Given the description of an element on the screen output the (x, y) to click on. 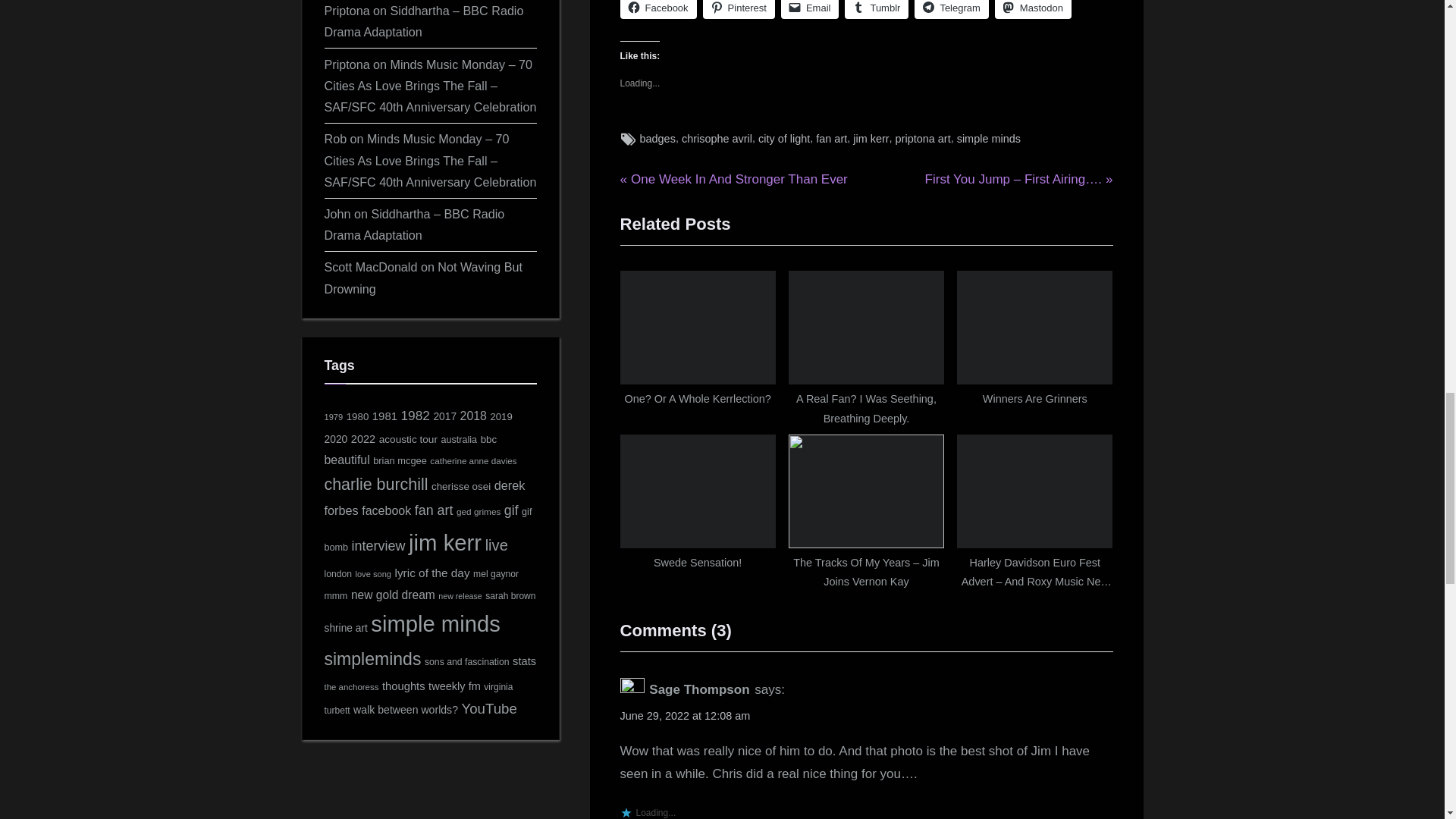
fan art (831, 138)
simple minds (713, 138)
priptona art (922, 138)
Click to share on Facebook (658, 9)
Click to email a link to a friend (810, 9)
Email (810, 9)
Click to share on Pinterest (738, 9)
chrisophe avril (716, 138)
Tumblr (876, 9)
Telegram (951, 9)
